Given the description of an element on the screen output the (x, y) to click on. 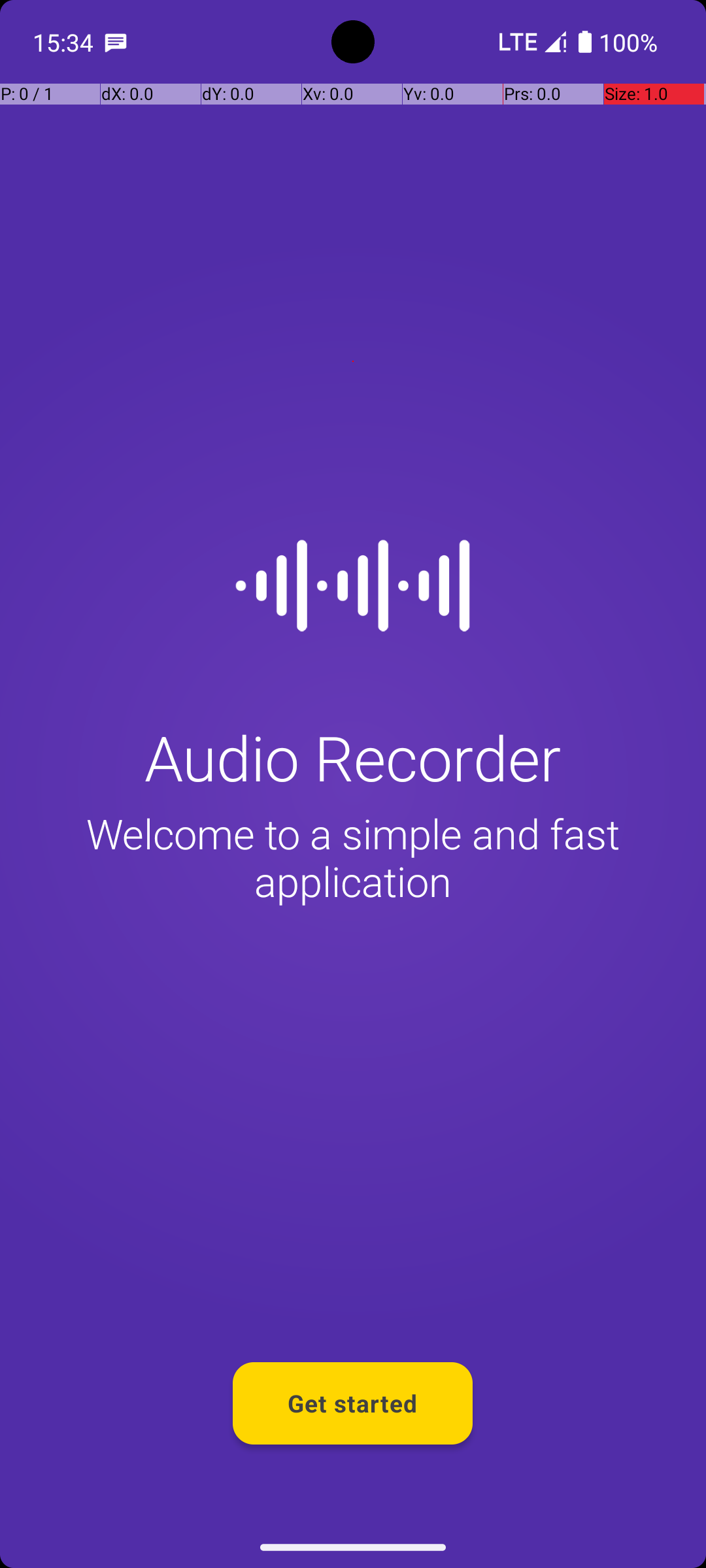
Welcome to a simple and fast application Element type: android.widget.TextView (352, 856)
